Given the description of an element on the screen output the (x, y) to click on. 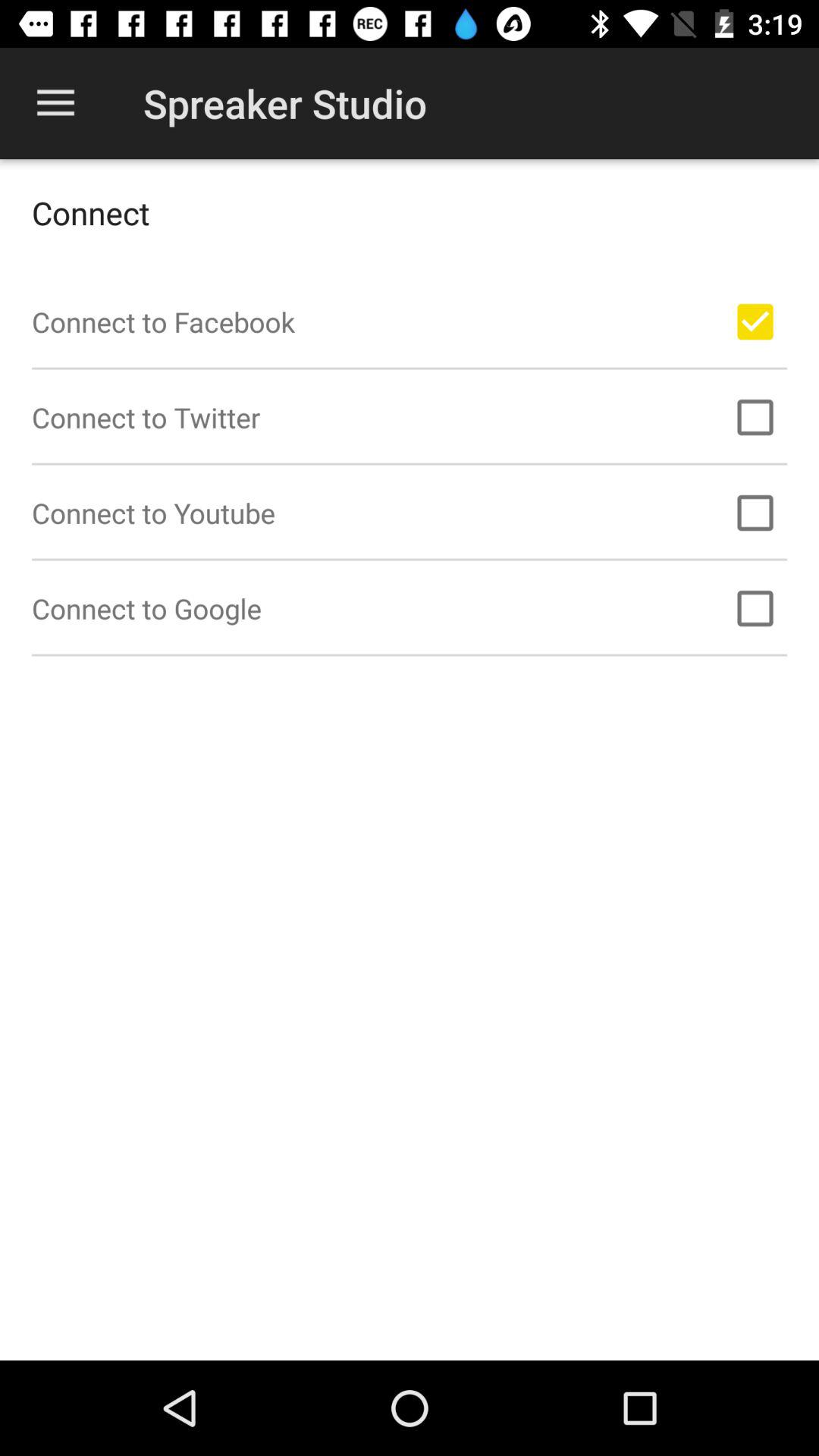
connect youtube account (755, 512)
